Given the description of an element on the screen output the (x, y) to click on. 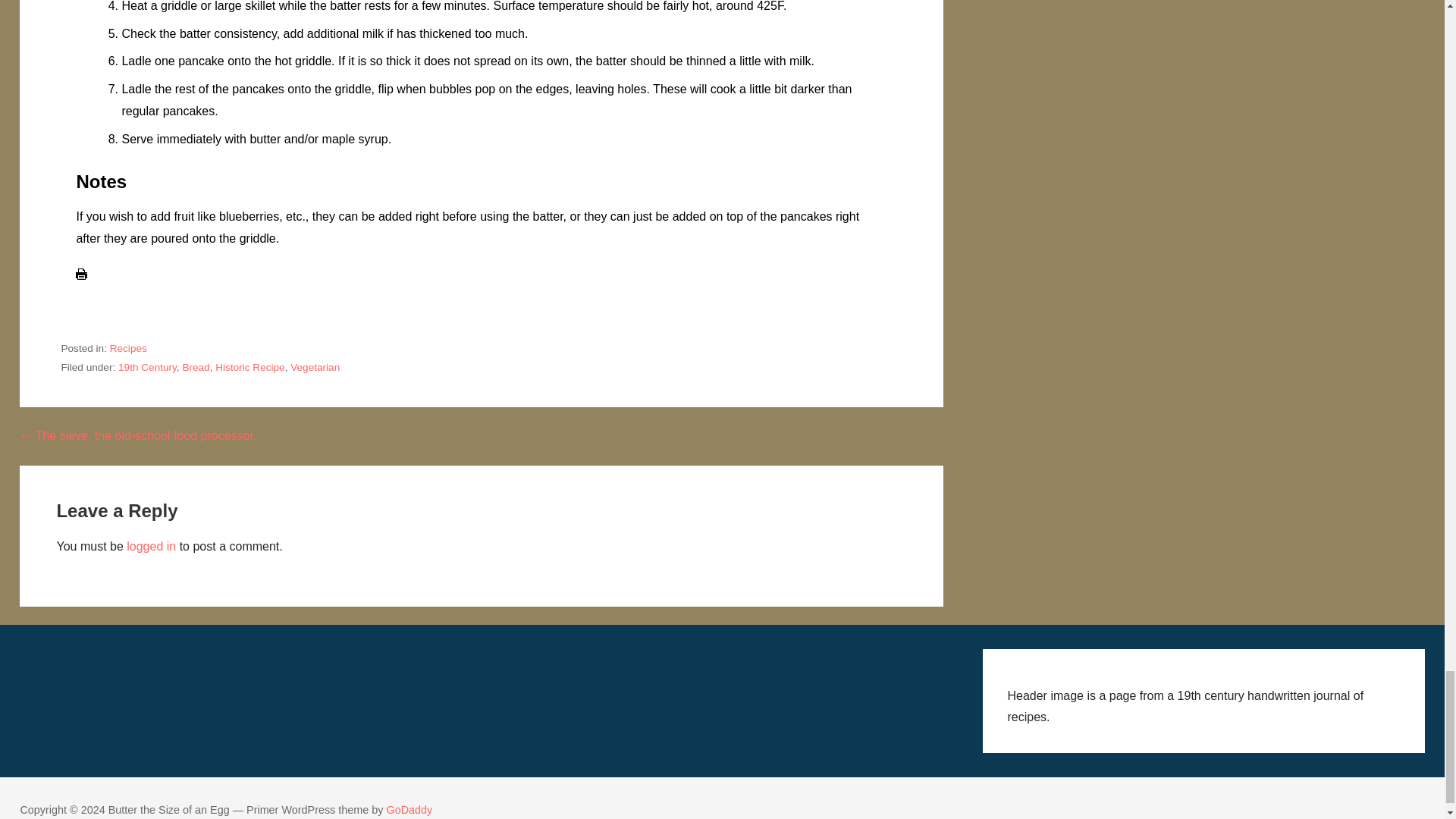
Recipes (128, 348)
logged in (151, 545)
Bread (195, 367)
Vegetarian (314, 367)
Historic Recipe (249, 367)
19th Century (146, 367)
